Given the description of an element on the screen output the (x, y) to click on. 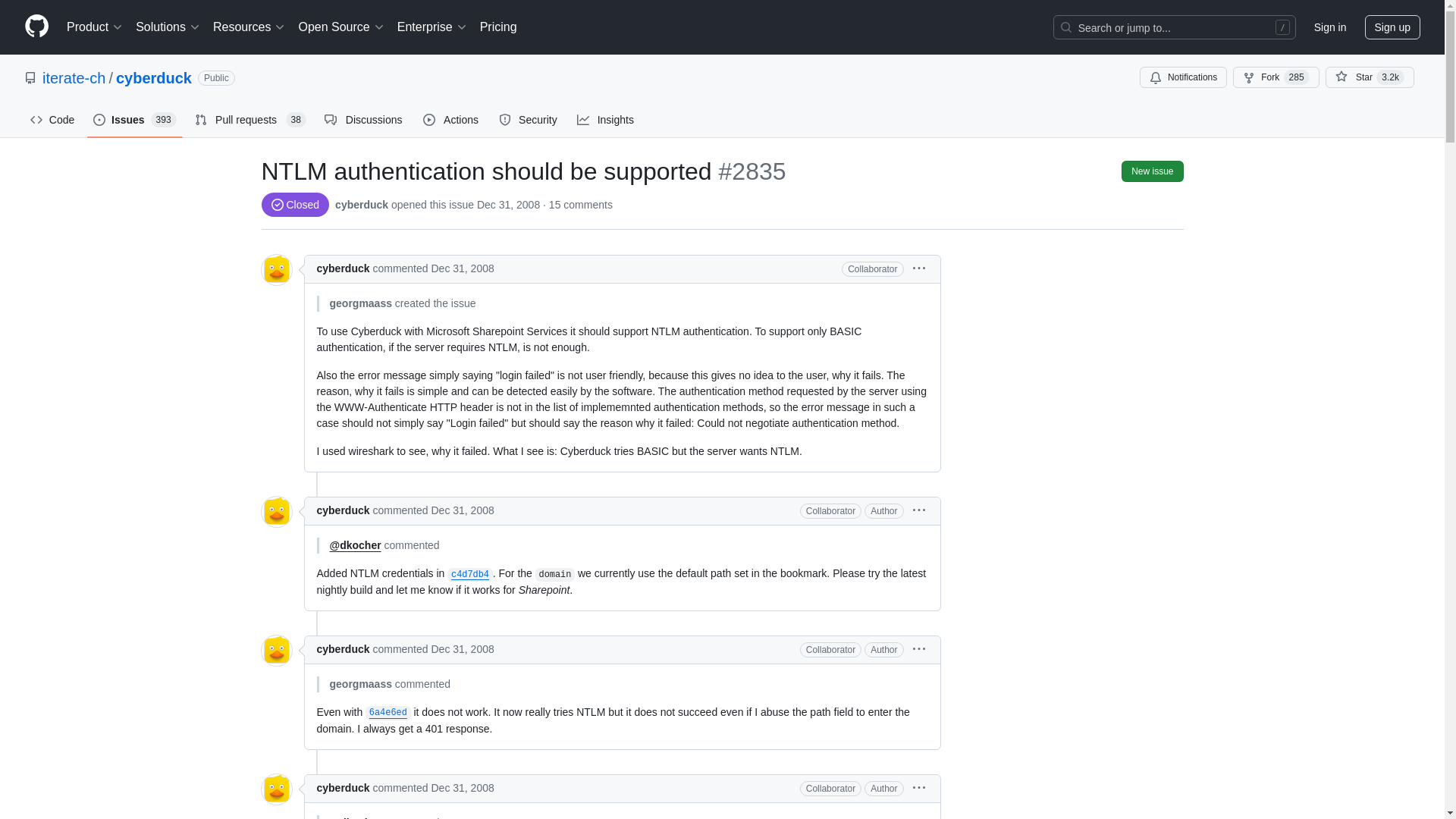
Solutions (167, 27)
Status: Closed (294, 204)
285 (1296, 77)
Resources (249, 27)
3,178 (1390, 77)
393 (163, 119)
38 (295, 119)
Open Source (341, 27)
Product (95, 27)
